Given the description of an element on the screen output the (x, y) to click on. 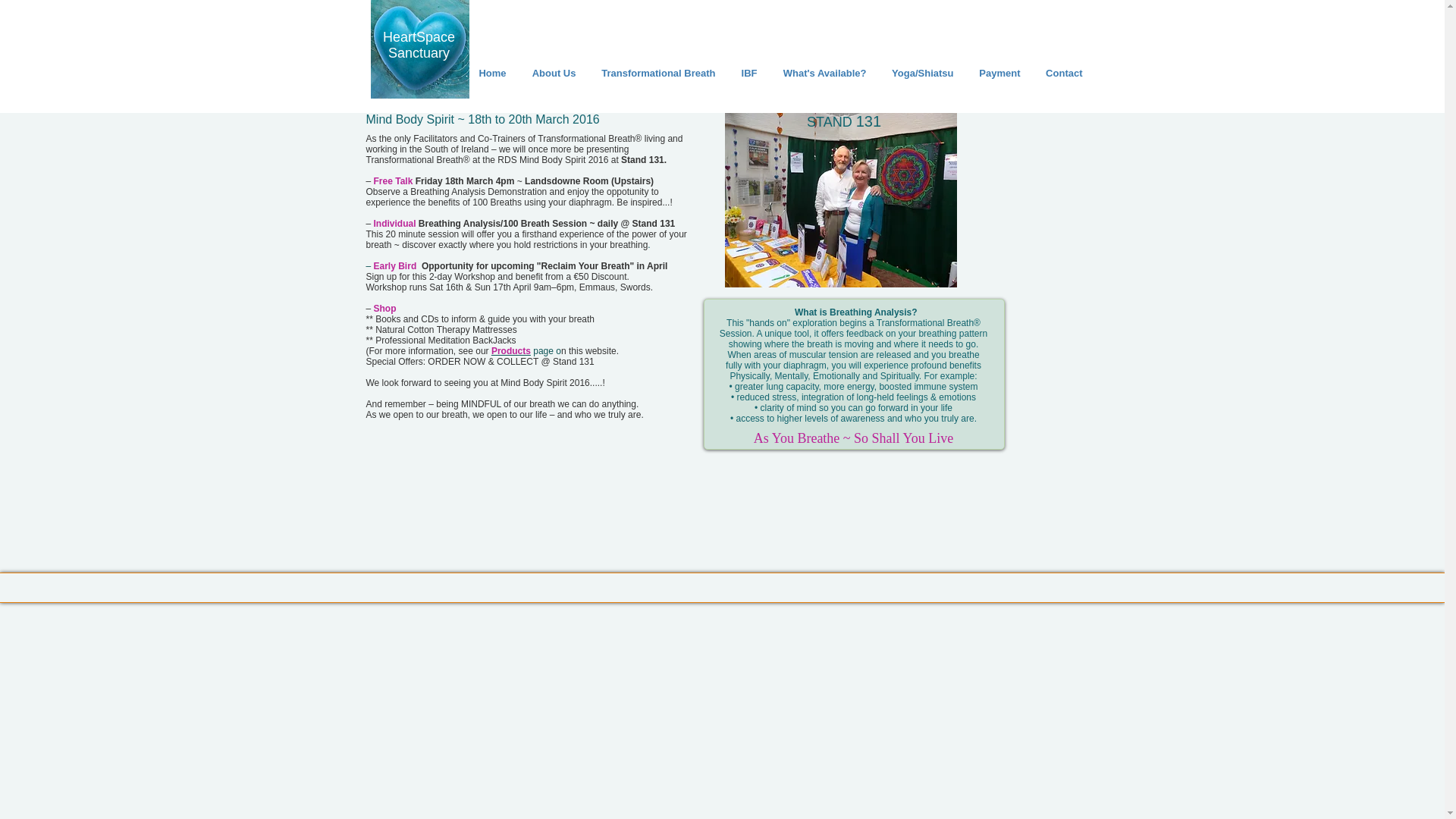
Transformational Breath (656, 72)
Home (490, 72)
Payment (996, 72)
About Us (551, 72)
HeartSpace Sanctuary, Ireland (418, 49)
IBF (747, 72)
Products (511, 350)
What's Available? (822, 72)
Contact (1061, 72)
